Given the description of an element on the screen output the (x, y) to click on. 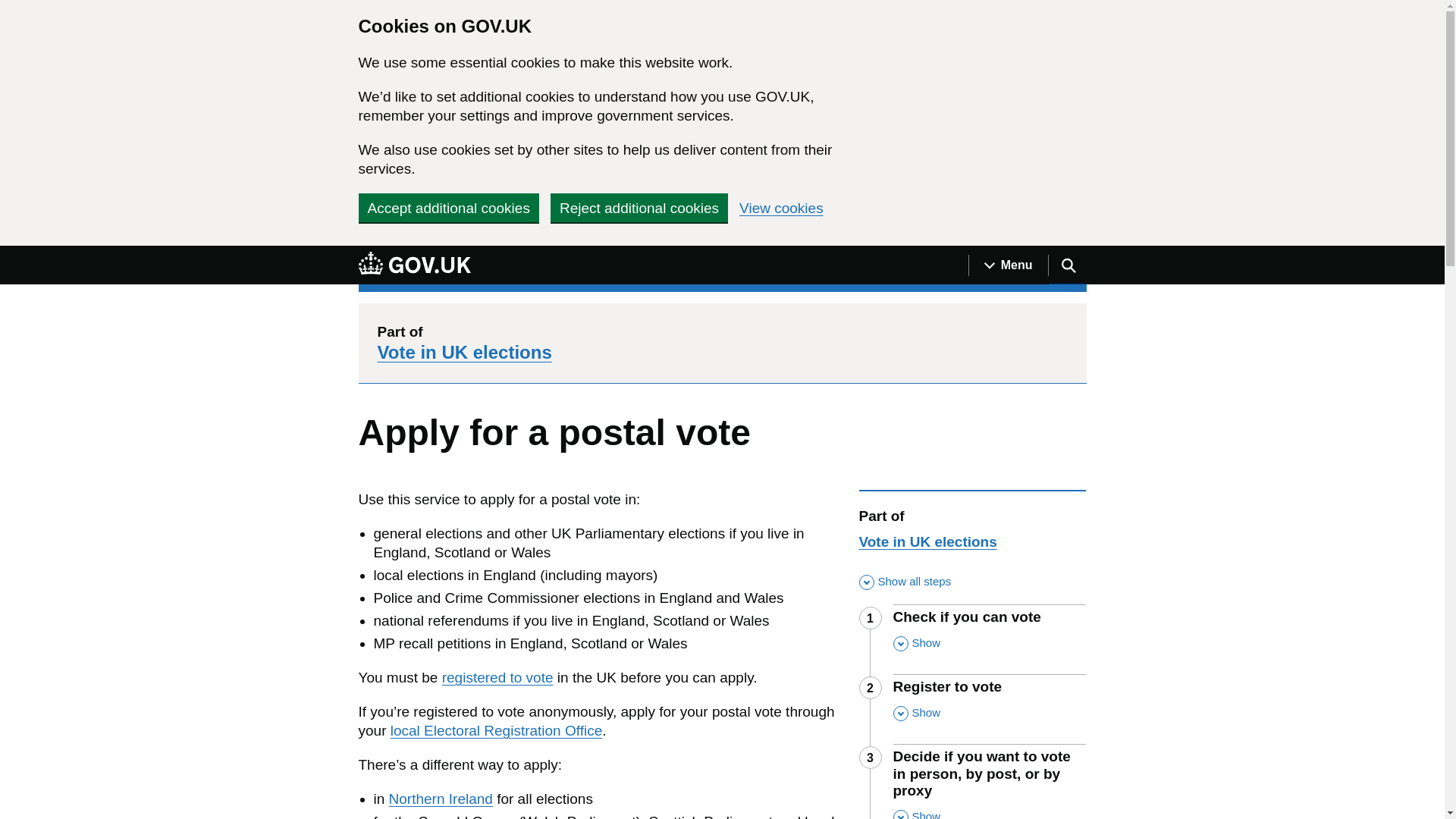
Accept additional cookies (448, 207)
Northern Ireland (440, 798)
registered to vote (497, 677)
Search GOV.UK (1067, 265)
local Electoral Registration Office (496, 730)
Reject additional cookies (639, 207)
Vote in UK elections (464, 352)
Menu (1008, 265)
GOV.UK (414, 264)
View cookies (781, 207)
Skip to main content (11, 254)
Vote in UK elections (927, 541)
